Given the description of an element on the screen output the (x, y) to click on. 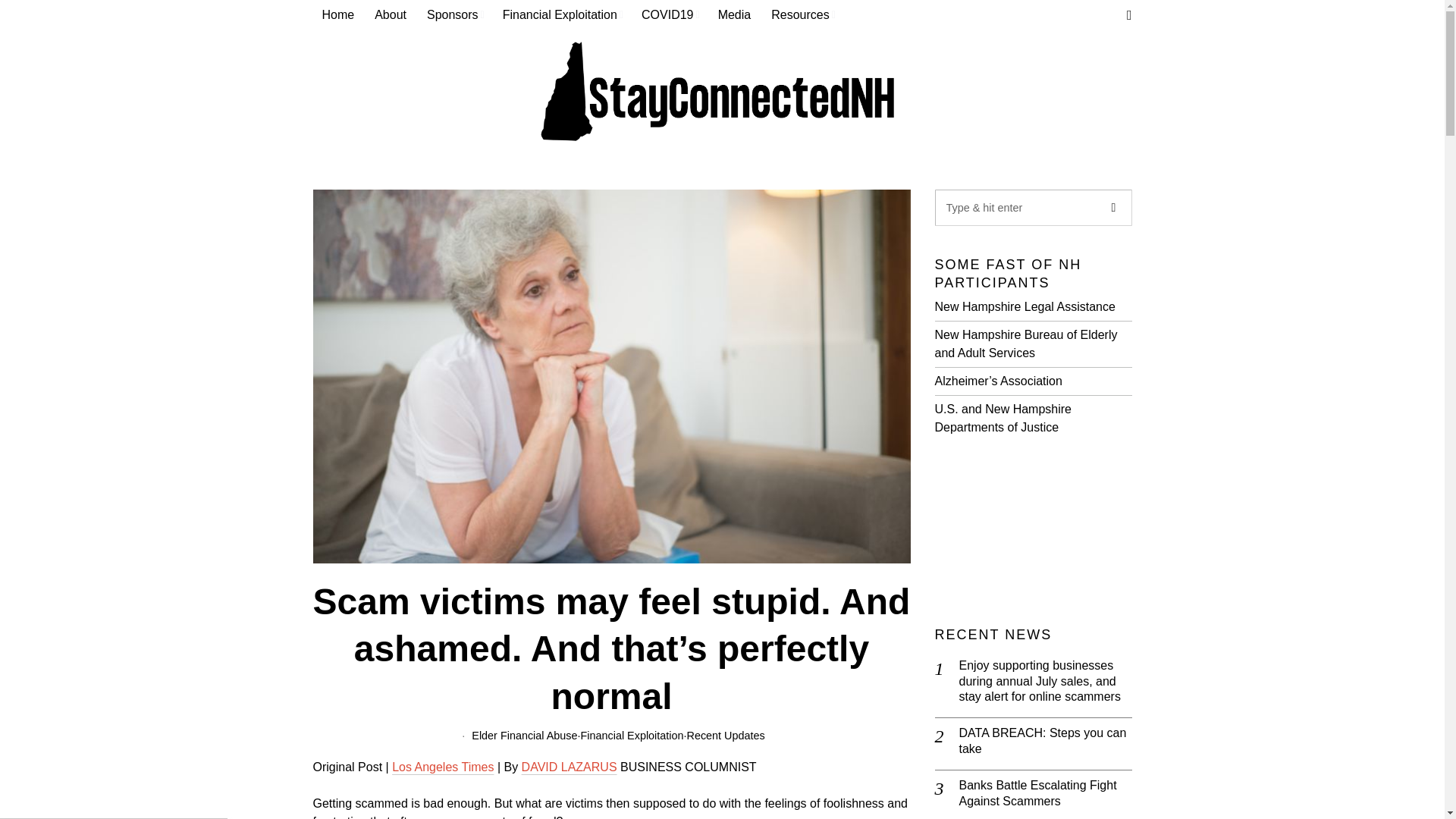
Resources (802, 15)
COVID19 (670, 15)
About (391, 15)
Go (1112, 207)
Elder Financial Abuse (523, 735)
Media (735, 15)
DAVID LAZARUS (569, 766)
Sponsors (455, 15)
Home (339, 15)
Los Angeles Times (442, 766)
Financial Exploitation (562, 15)
Financial Exploitation (632, 735)
Recent Updates (726, 735)
